Given the description of an element on the screen output the (x, y) to click on. 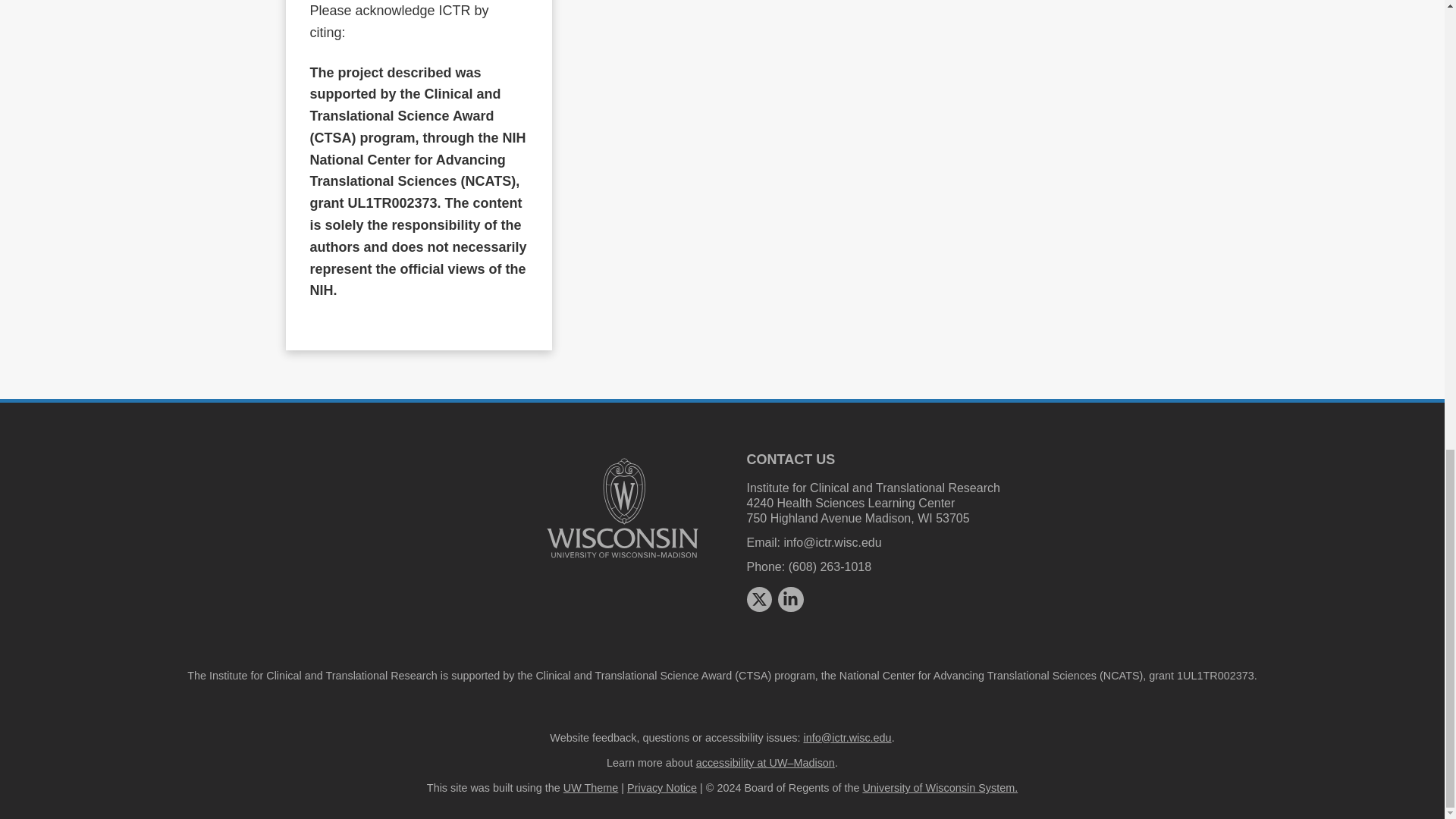
University logo that links to main university website (621, 508)
linkedin (790, 598)
x twitter (759, 598)
